Given the description of an element on the screen output the (x, y) to click on. 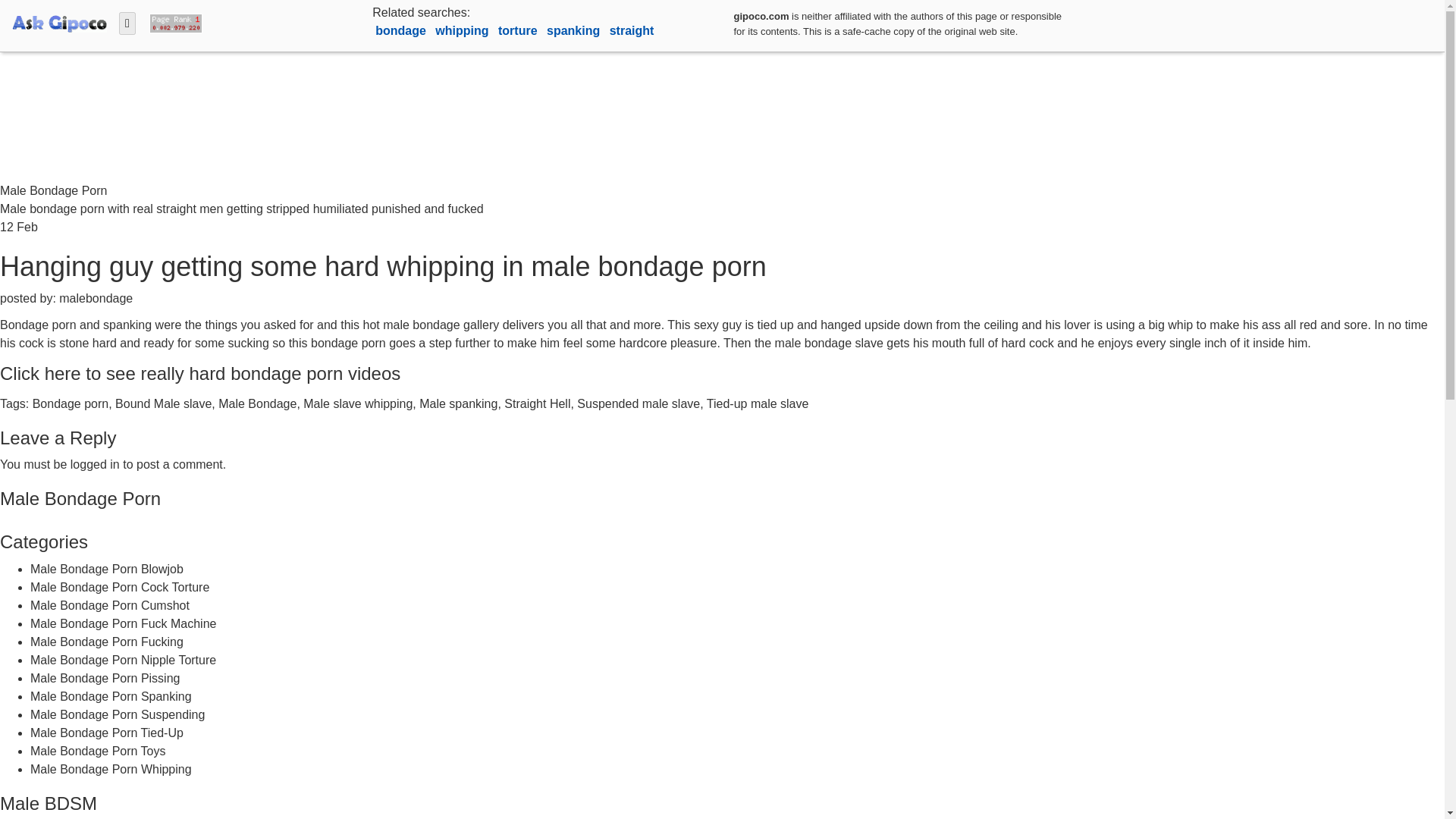
bondage (402, 30)
torture (518, 30)
bondage (402, 30)
spanking (575, 30)
torture (518, 30)
spanking (575, 30)
straight (631, 30)
view page-rank and visitors counter and free website stats (172, 21)
free experimental uncensored search engine - home page (58, 21)
straight (631, 30)
whipping (463, 30)
whipping (463, 30)
